Given the description of an element on the screen output the (x, y) to click on. 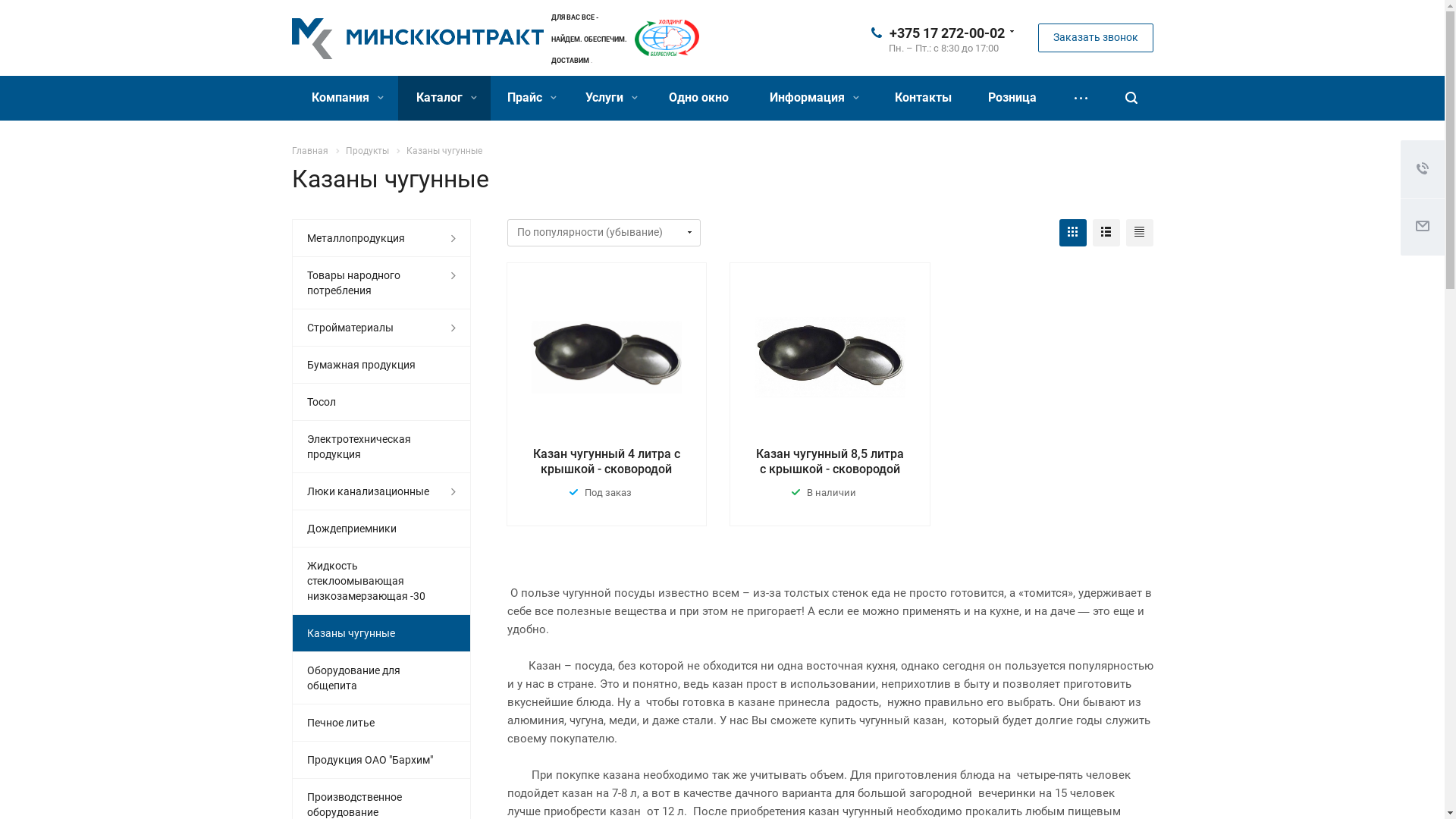
+375 17 272-00-02 Element type: text (946, 32)
